Given the description of an element on the screen output the (x, y) to click on. 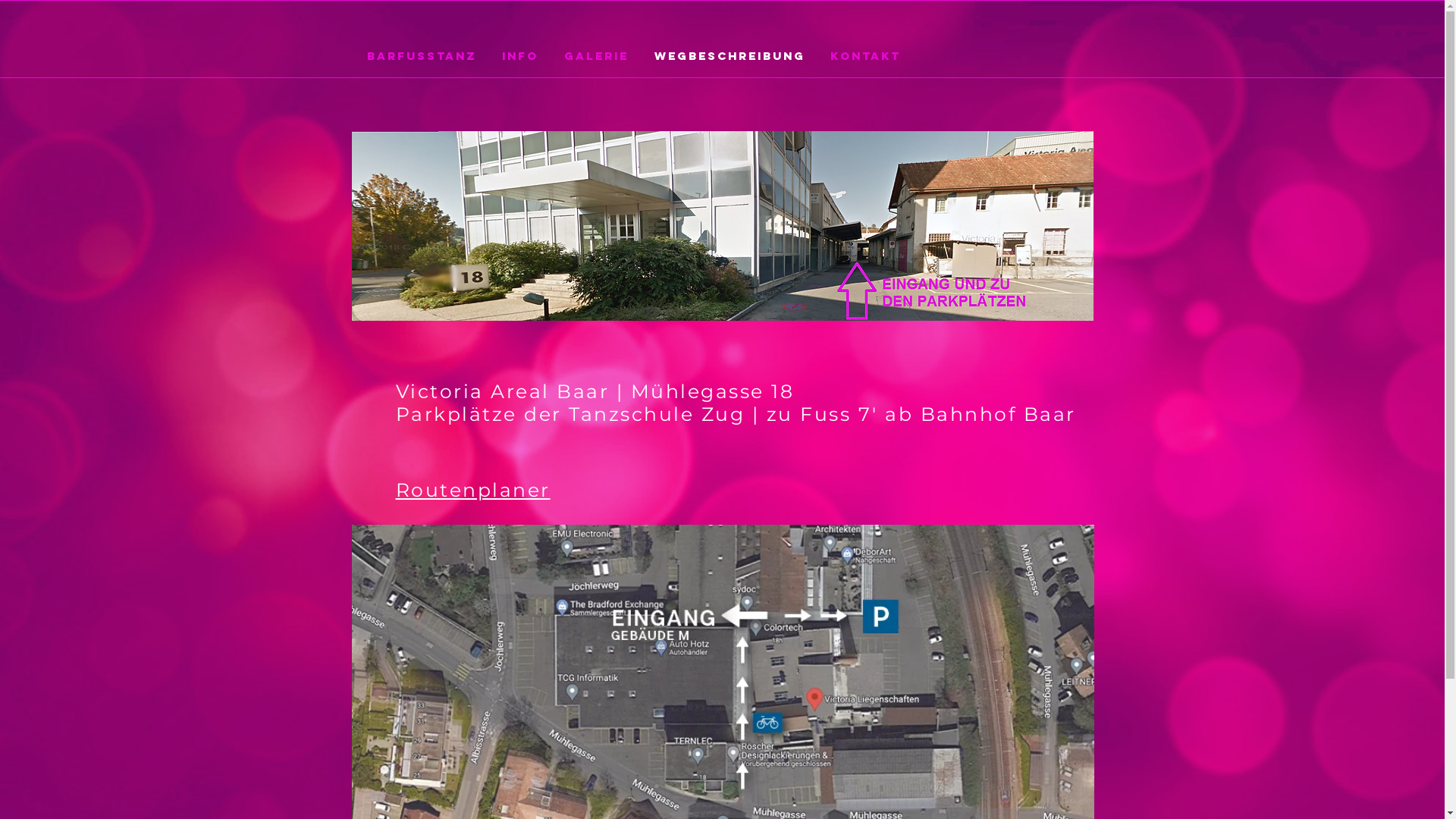
BARFUSSTANZ Element type: text (421, 55)
INFO Element type: text (519, 55)
Routenplaner Element type: text (472, 489)
GALERIE Element type: text (596, 55)
KONTAKT Element type: text (866, 55)
WEGBESCHREIBUNG Element type: text (728, 55)
